Given the description of an element on the screen output the (x, y) to click on. 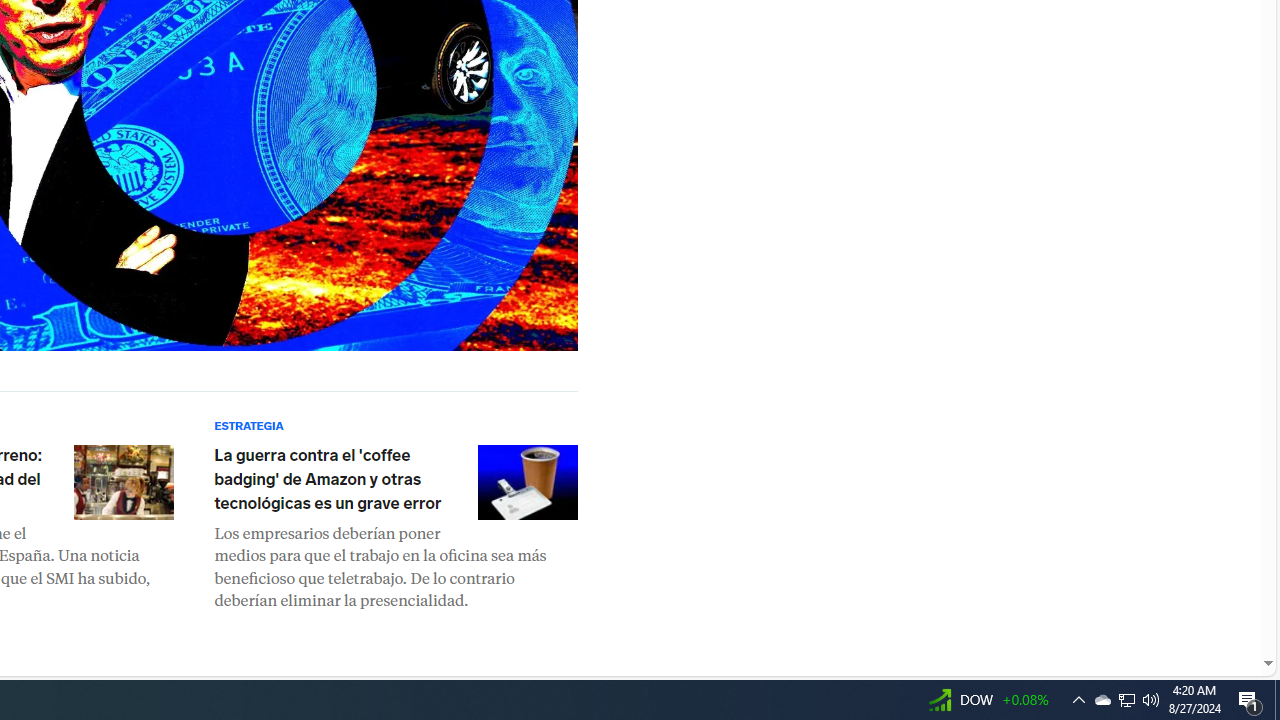
Coffee Badgings (527, 481)
